Given the description of an element on the screen output the (x, y) to click on. 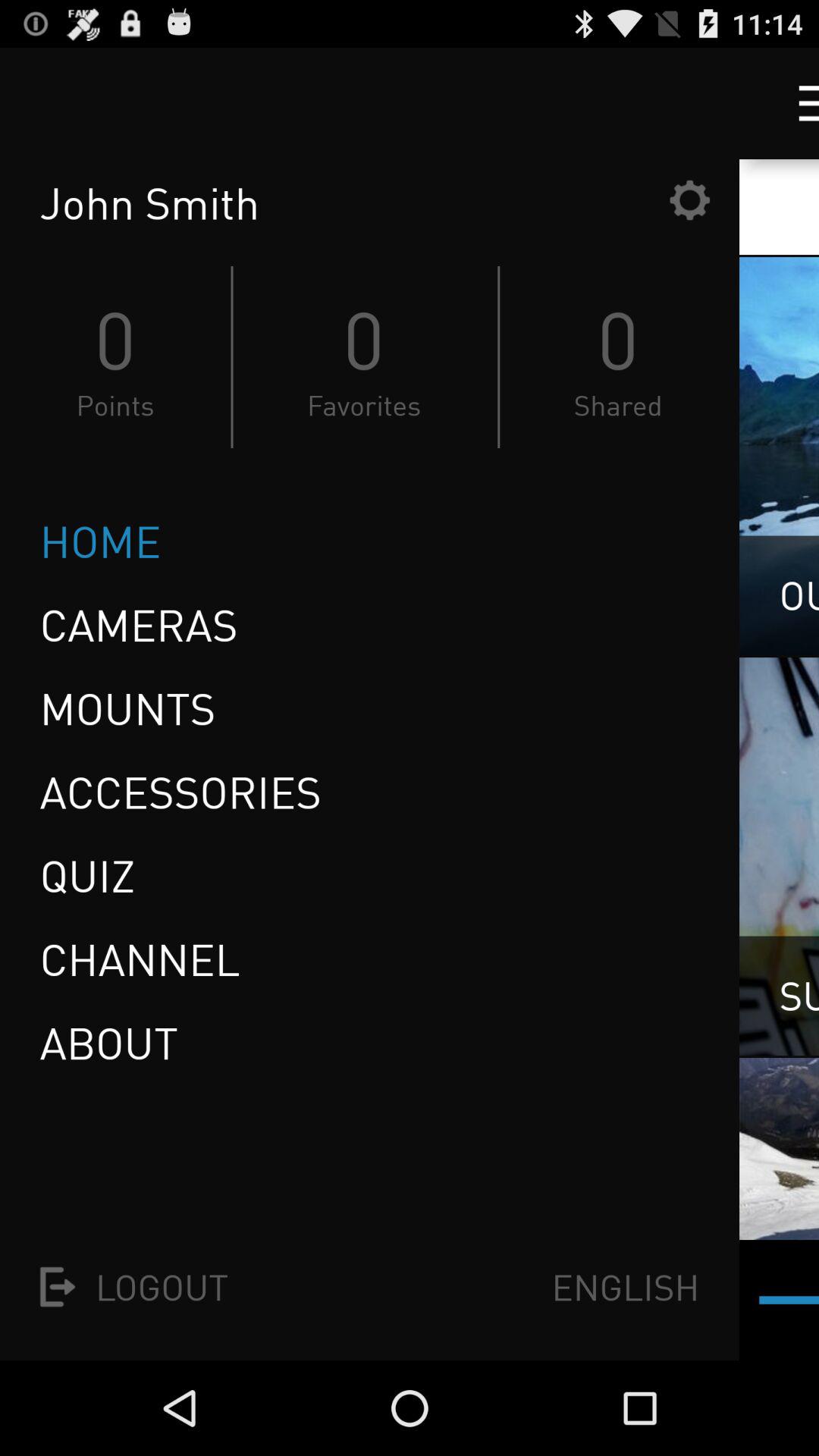
swipe to english icon (625, 1286)
